Given the description of an element on the screen output the (x, y) to click on. 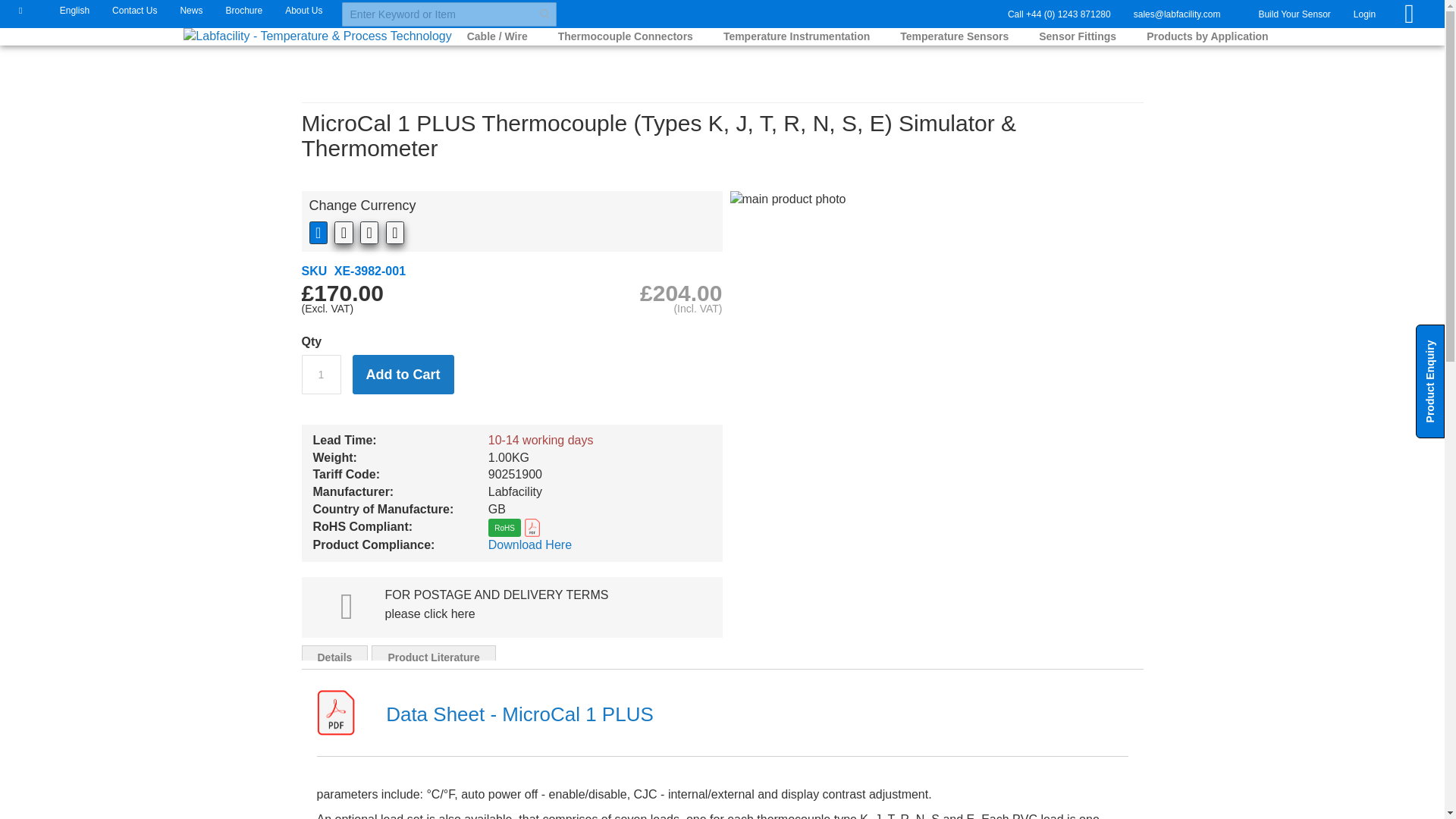
Build Your Sensor (1293, 13)
Brochure (243, 9)
Login (1363, 13)
1 (320, 373)
English (66, 9)
About Us (303, 9)
News (191, 9)
Contact Us (133, 9)
